Given the description of an element on the screen output the (x, y) to click on. 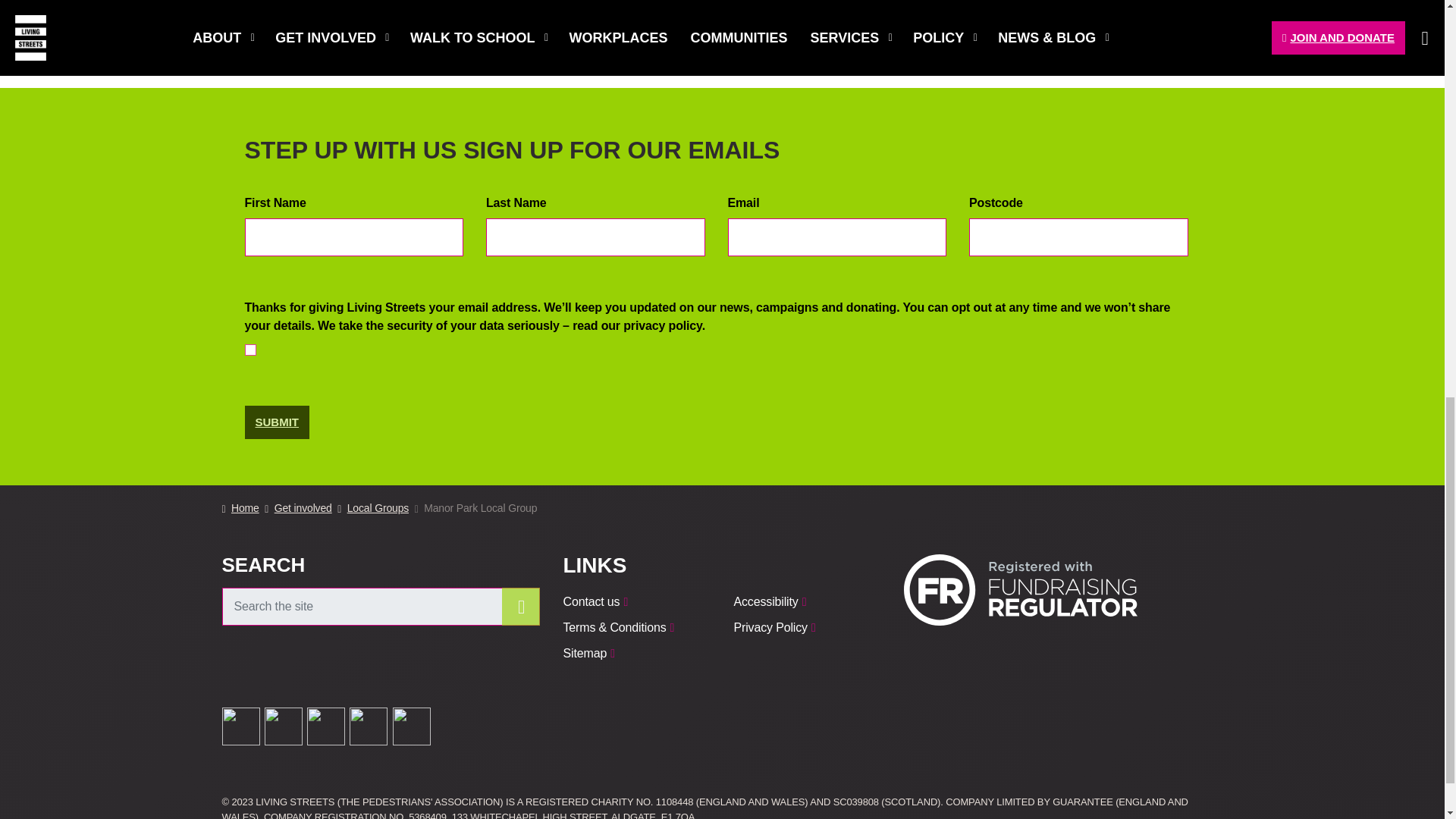
Submit (276, 422)
